Given the description of an element on the screen output the (x, y) to click on. 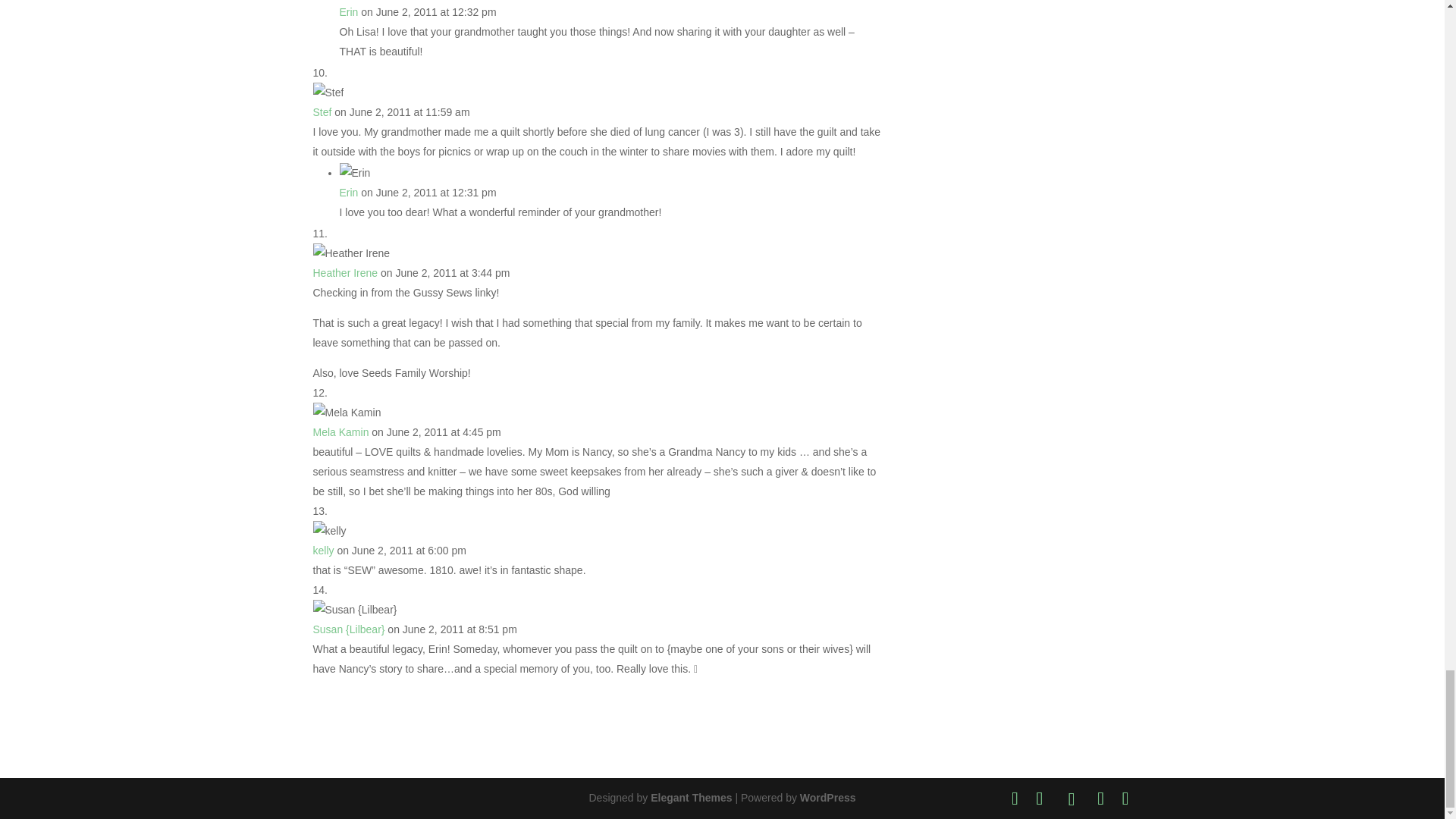
Premium WordPress Themes (691, 797)
